Given the description of an element on the screen output the (x, y) to click on. 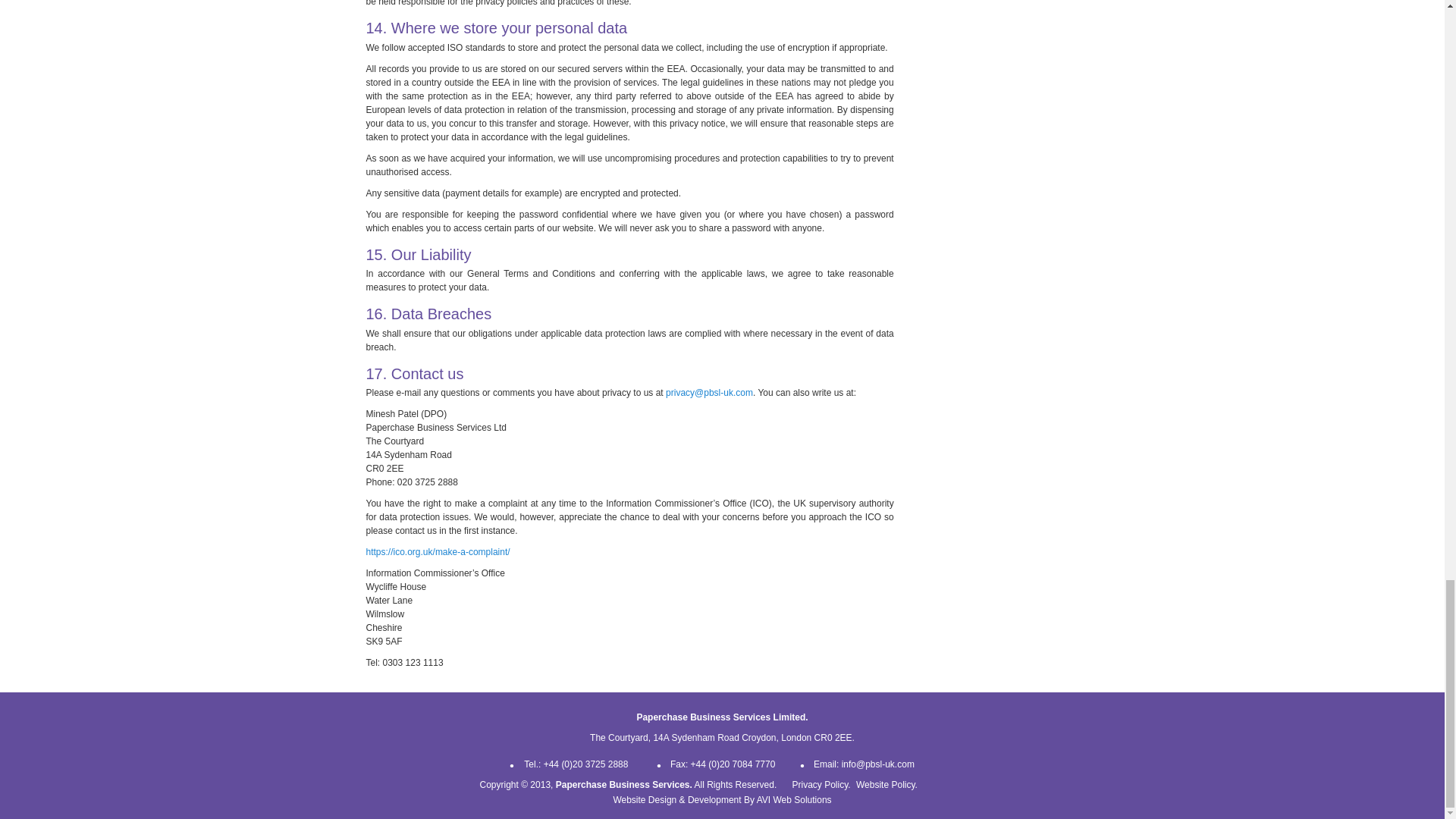
Website Policy. (886, 784)
Privacy Policy. (820, 784)
AVI Web Solutions (794, 799)
